Given the description of an element on the screen output the (x, y) to click on. 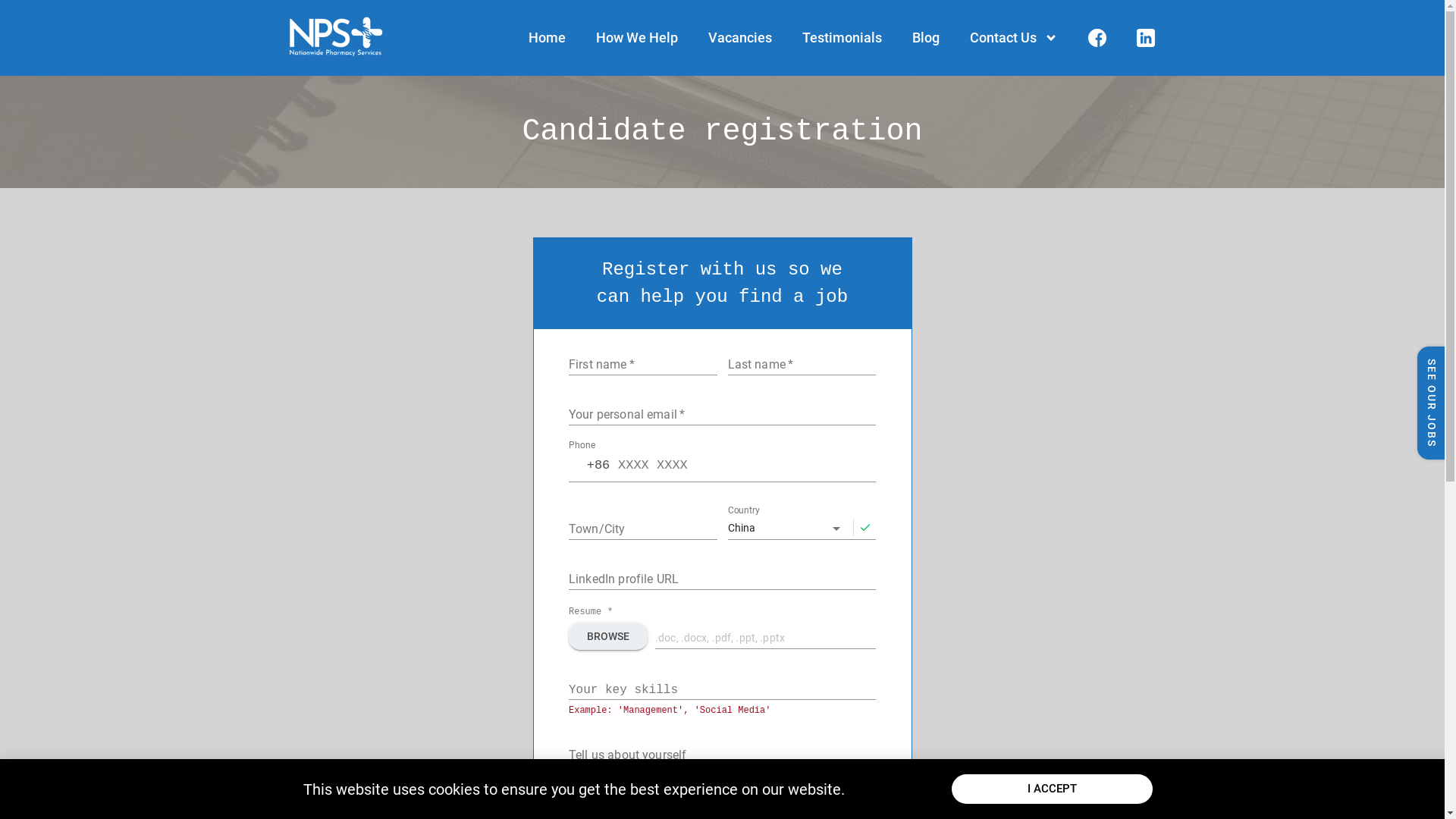
Testimonials Element type: text (842, 37)
Blog Element type: text (924, 37)
Contact Us Element type: text (1012, 37)
How We Help Element type: text (636, 37)
I ACCEPT Element type: text (1051, 788)
Home Element type: text (546, 37)
SEND Element type: text (722, 792)
Vacancies Element type: text (740, 37)
